Given the description of an element on the screen output the (x, y) to click on. 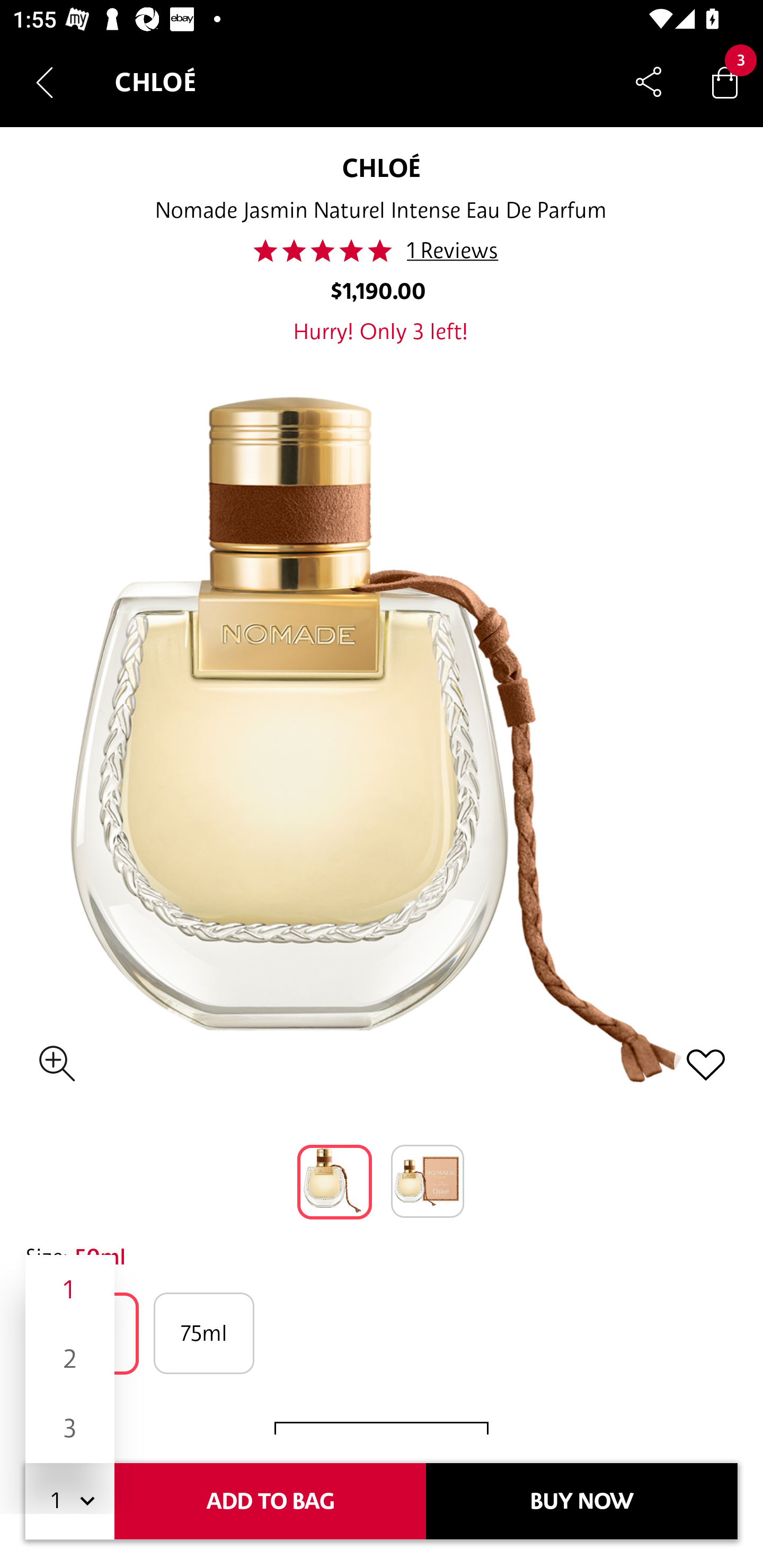
1 (69, 1289)
2 (69, 1358)
3 (69, 1427)
